Given the description of an element on the screen output the (x, y) to click on. 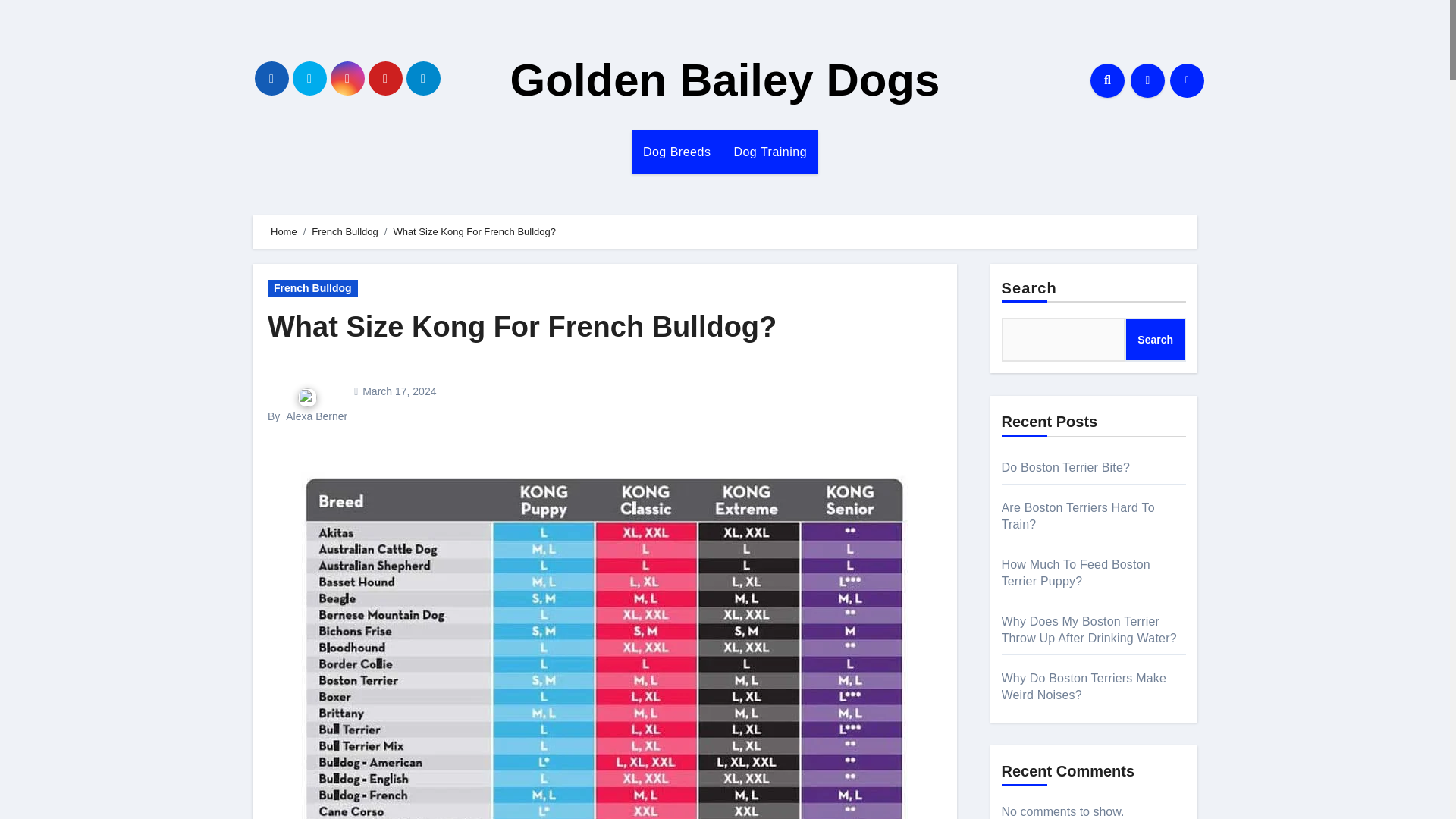
Golden Bailey Dogs (725, 79)
What Size Kong For French Bulldog? (521, 327)
Dog Breeds (676, 152)
Home (283, 231)
Alexa Berner (316, 416)
March 17, 2024 (398, 390)
Permalink to: What Size Kong For French Bulldog? (521, 327)
French Bulldog (312, 288)
Dog Training (770, 152)
Dog Breeds (676, 152)
French Bulldog (344, 231)
Dog Training (770, 152)
